Given the description of an element on the screen output the (x, y) to click on. 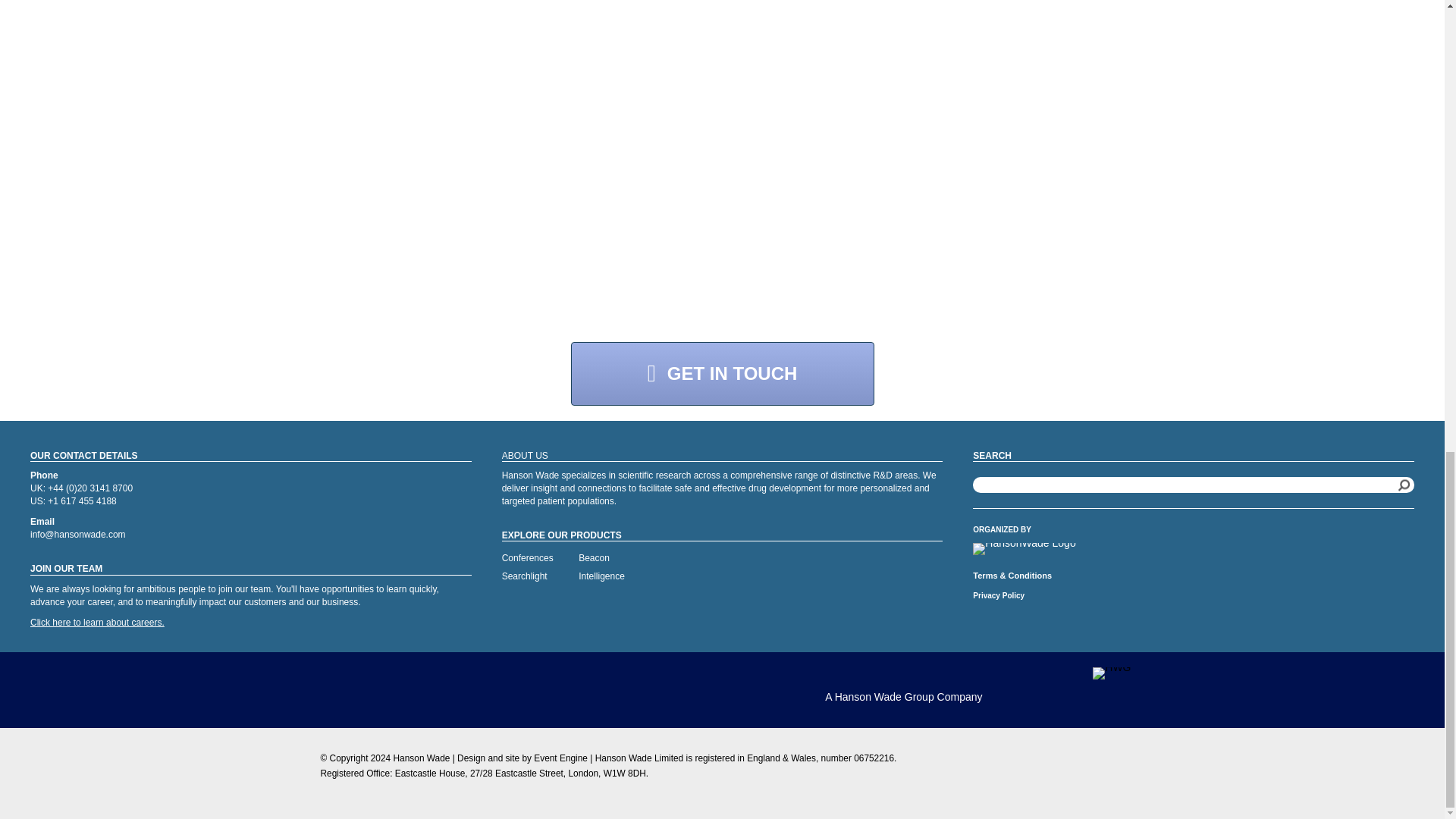
Event Engine (561, 757)
GET IN TOUCH (721, 373)
Beacon (594, 557)
HWG (1112, 673)
Click here to learn about careers. (97, 622)
Privacy Policy (998, 594)
Intelligence (601, 575)
Searchlight (524, 575)
Conferences (527, 557)
HansonWade Logo (1023, 548)
